Given the description of an element on the screen output the (x, y) to click on. 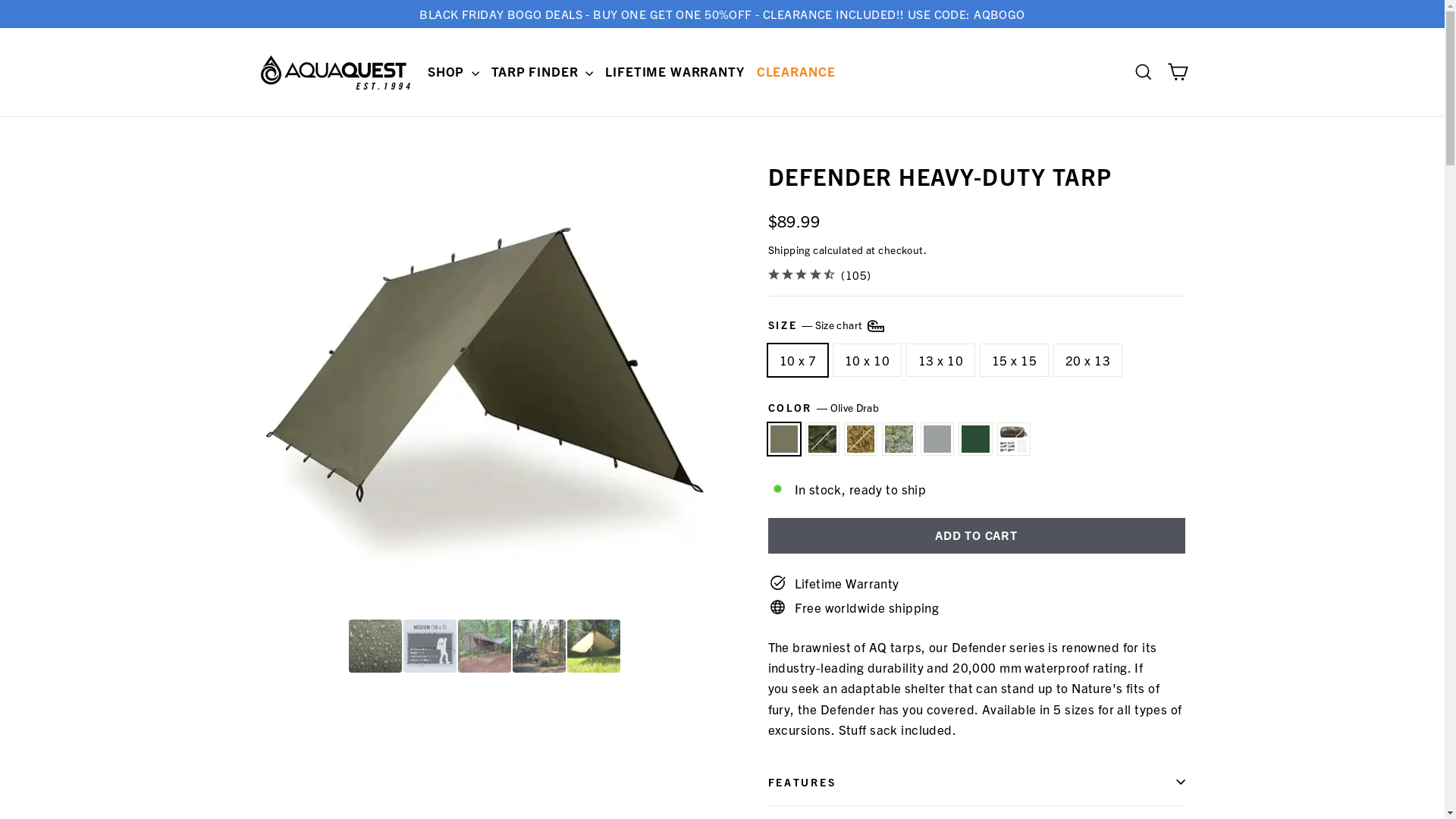
ICON-SEARCH
SEARCH Element type: text (1143, 71)
ICON-CART
CART Element type: text (1176, 71)
105
total reviews Element type: text (855, 275)
Shipping Element type: text (788, 249)
ADD TO CART Element type: text (975, 535)
FEATURES Element type: text (975, 781)
CLEARANCE Element type: text (795, 71)
LIFETIME WARRANTY Element type: text (674, 71)
